Given the description of an element on the screen output the (x, y) to click on. 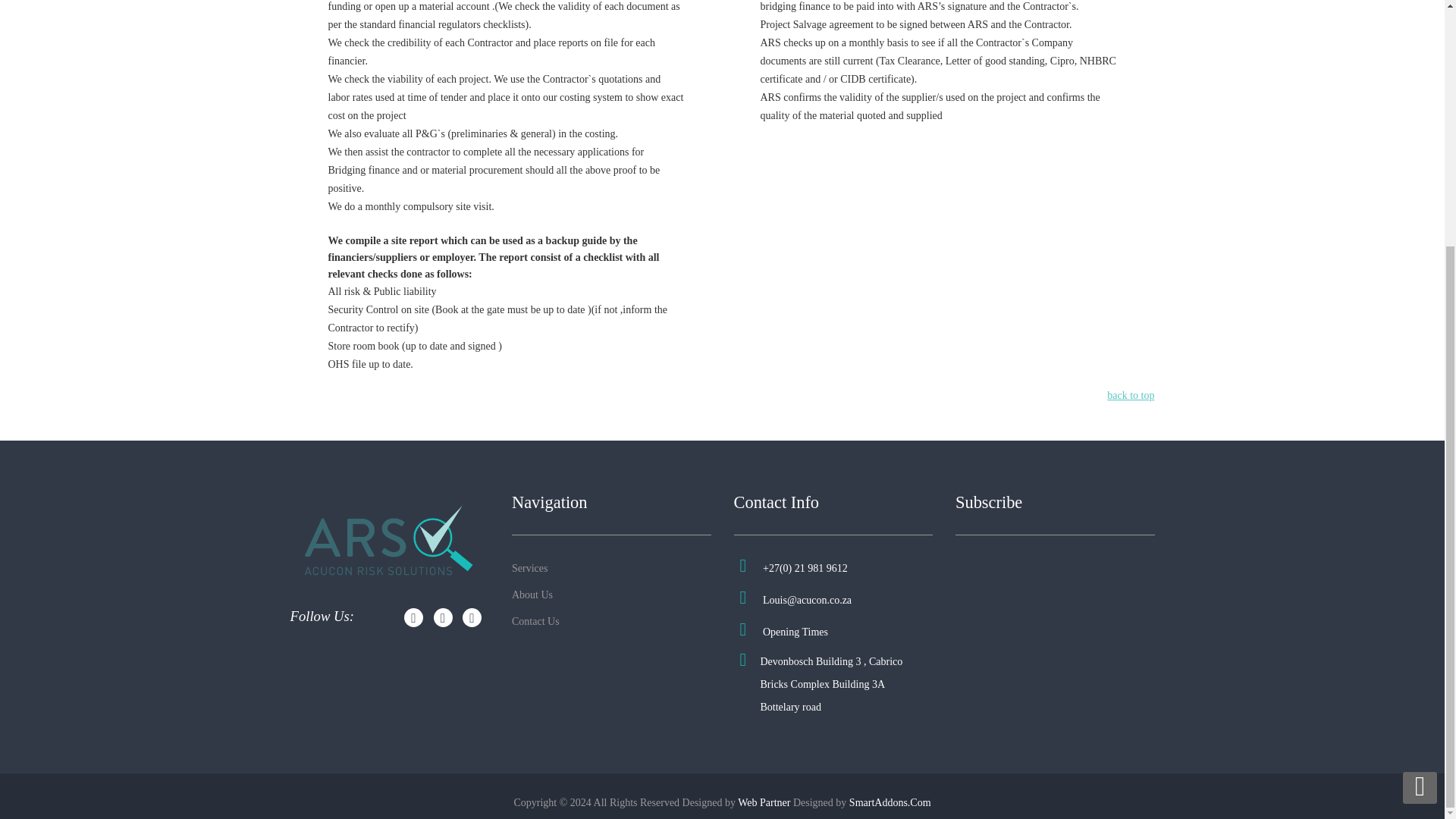
SmartAddons.Com (889, 802)
back to top (1130, 395)
Visit SmartAddons! (889, 802)
About Us (532, 594)
Contact Us (535, 621)
Services (529, 568)
Web Partner (764, 802)
